Given the description of an element on the screen output the (x, y) to click on. 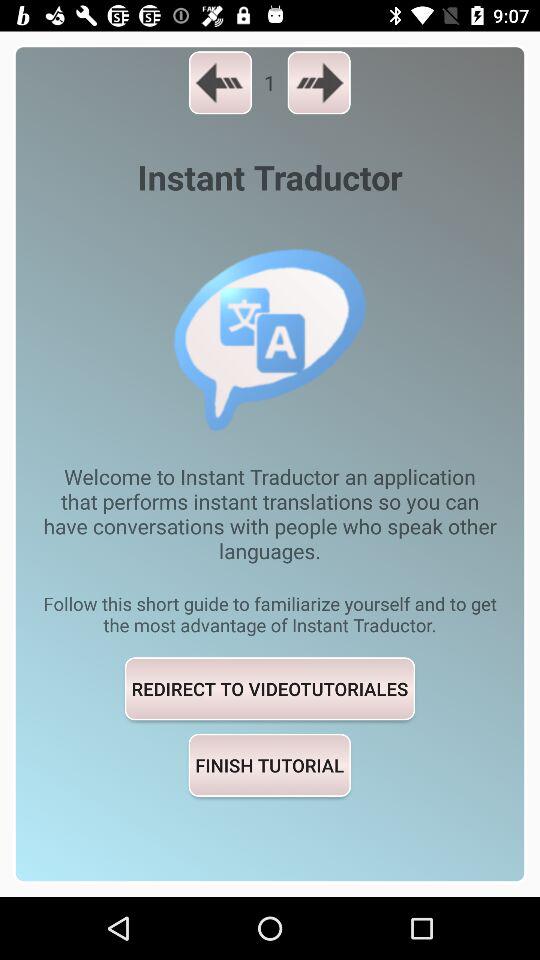
tap item above the finish tutorial item (269, 688)
